Given the description of an element on the screen output the (x, y) to click on. 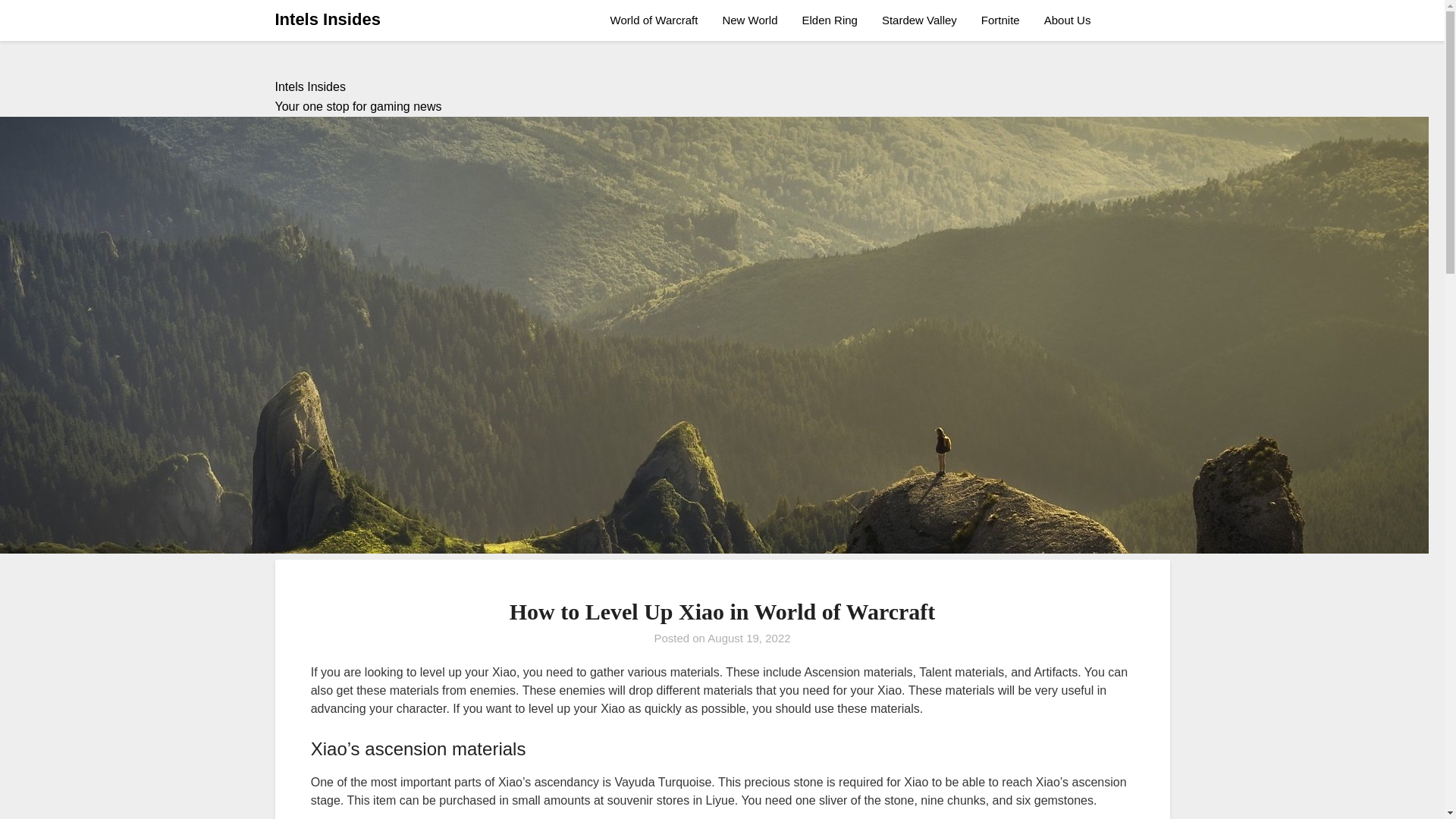
New World (749, 20)
Elden Ring (829, 20)
Fortnite (1000, 20)
August 19, 2022 (748, 637)
Intels Insides (327, 19)
About Us (1067, 20)
Stardew Valley (919, 20)
World of Warcraft (660, 20)
